Given the description of an element on the screen output the (x, y) to click on. 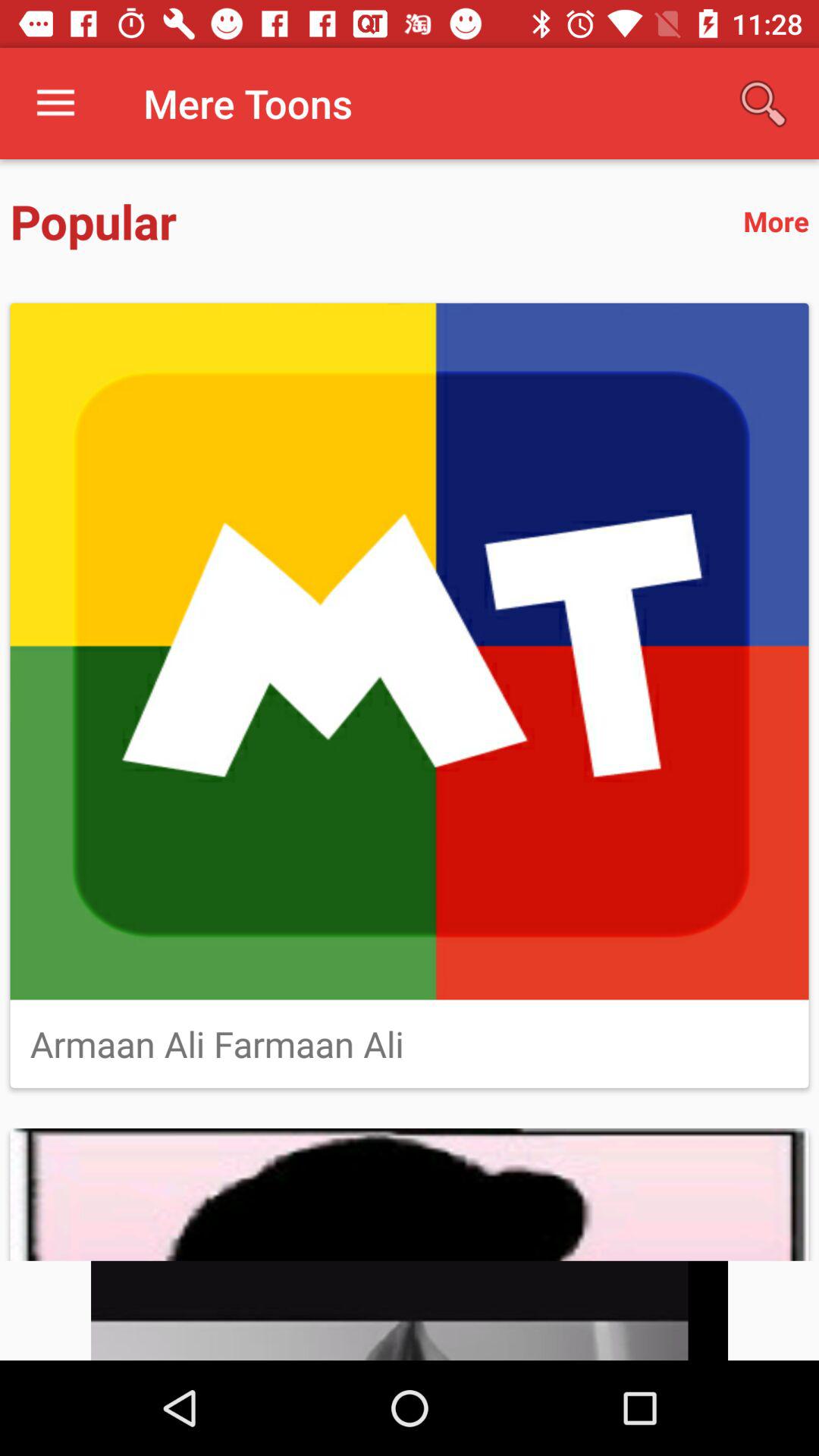
select icon next to mere toons (55, 103)
